Given the description of an element on the screen output the (x, y) to click on. 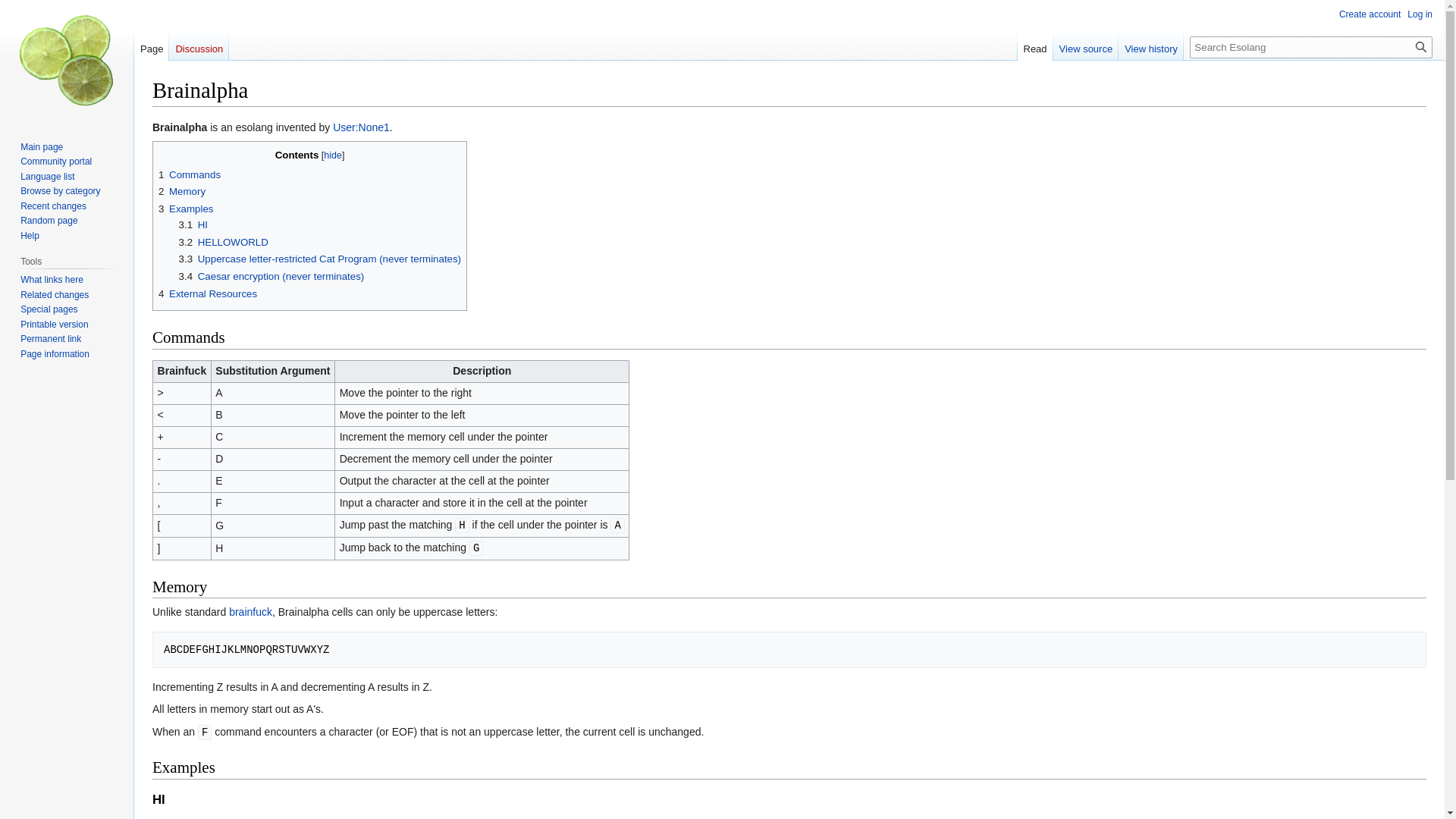
1 Commands (189, 174)
Page (150, 45)
3.2 HELLOWORLD (223, 242)
Search (1420, 46)
Log in (1419, 14)
Create account (1369, 14)
Brainfuck (250, 612)
Go (1420, 46)
Random page (48, 220)
3 Examples (185, 208)
User:None1 (361, 127)
Read (1034, 45)
Community portal (55, 161)
View source (1085, 45)
